Given the description of an element on the screen output the (x, y) to click on. 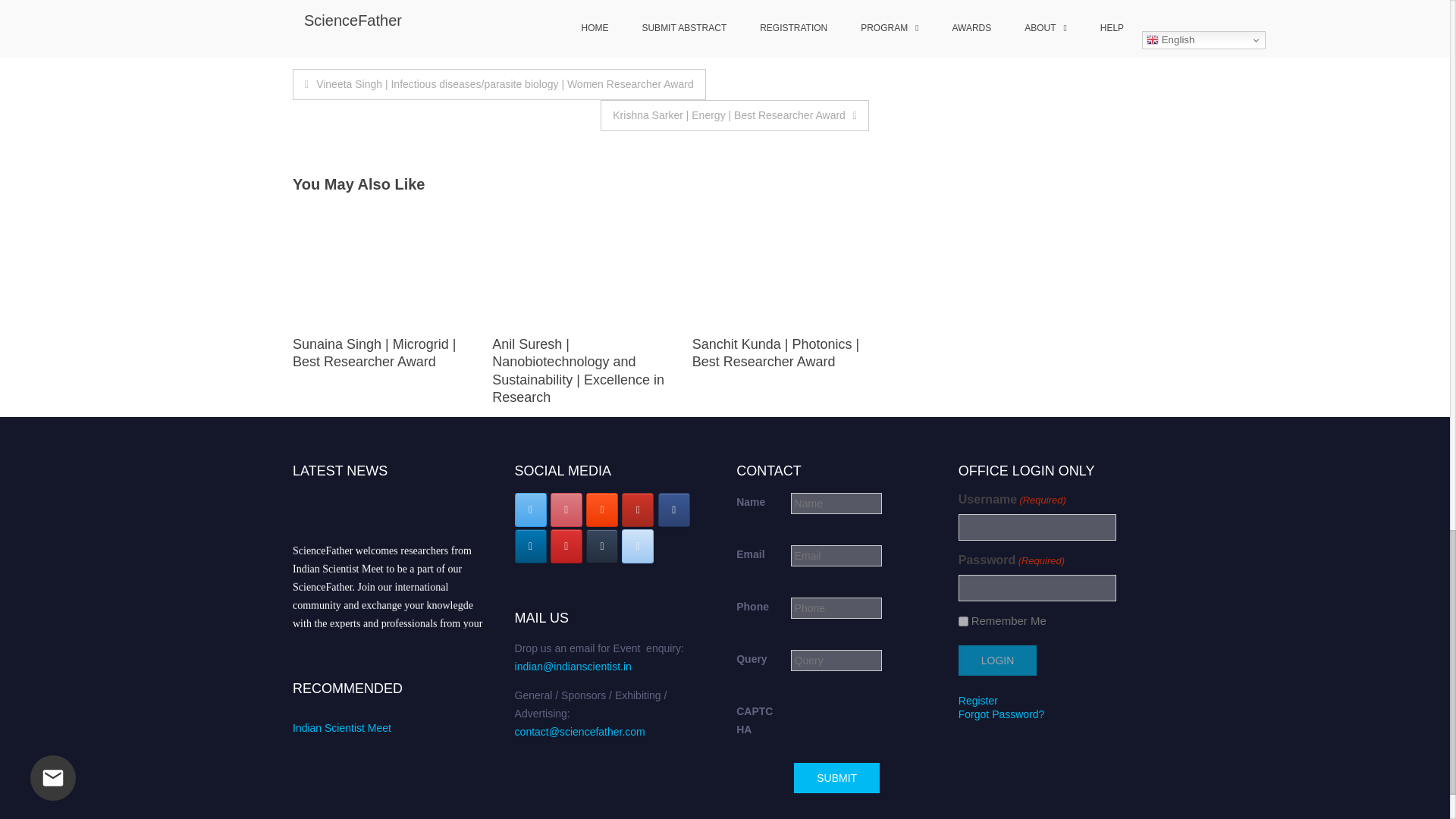
1 (963, 621)
Login (997, 660)
Submit (836, 777)
